Given the description of an element on the screen output the (x, y) to click on. 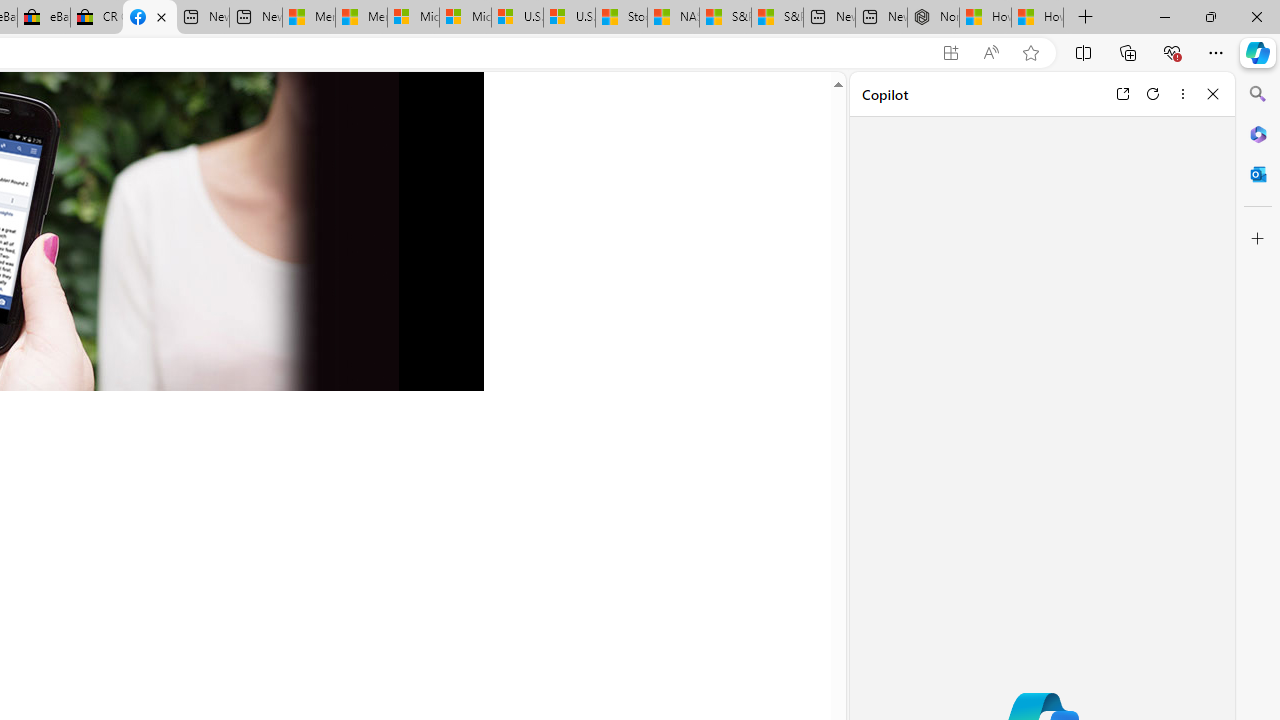
Close tab (161, 16)
Close (1213, 93)
Add this page to favorites (Ctrl+D) (1030, 53)
Settings and more (Alt+F) (1215, 52)
Read aloud this page (Ctrl+Shift+U) (991, 53)
Microsoft 365 (1258, 133)
Customize (1258, 239)
App available. Install Facebook (950, 53)
New Tab (1085, 17)
Minimize (1164, 16)
Facebook Lite APK for Android (150, 17)
S&P 500, Nasdaq end lower, weighed by Nvidia dip | Watch (776, 17)
